Given the description of an element on the screen output the (x, y) to click on. 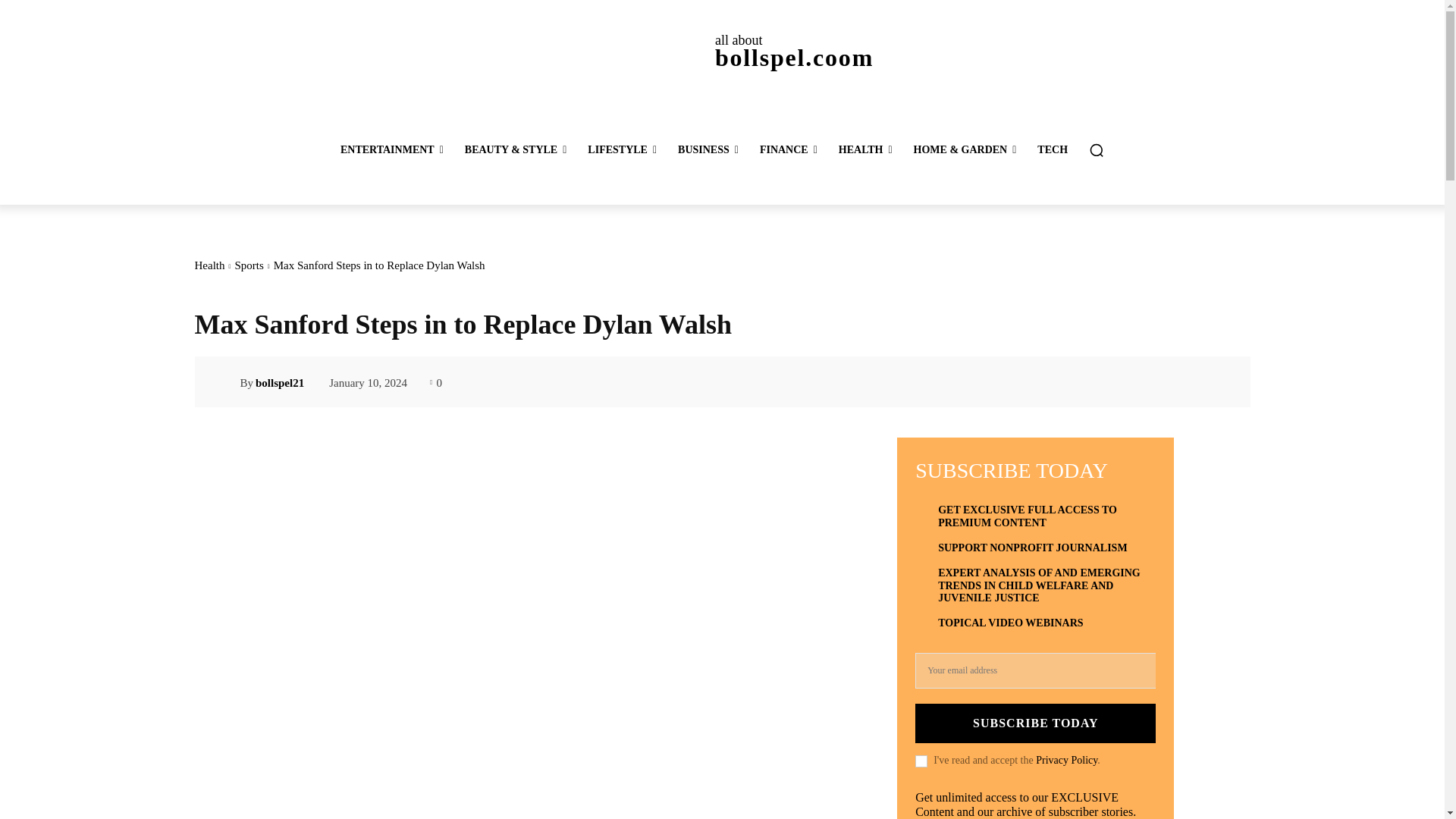
View all posts in Health (208, 265)
bollspel21 (226, 382)
View all posts in Sports (248, 265)
